Given the description of an element on the screen output the (x, y) to click on. 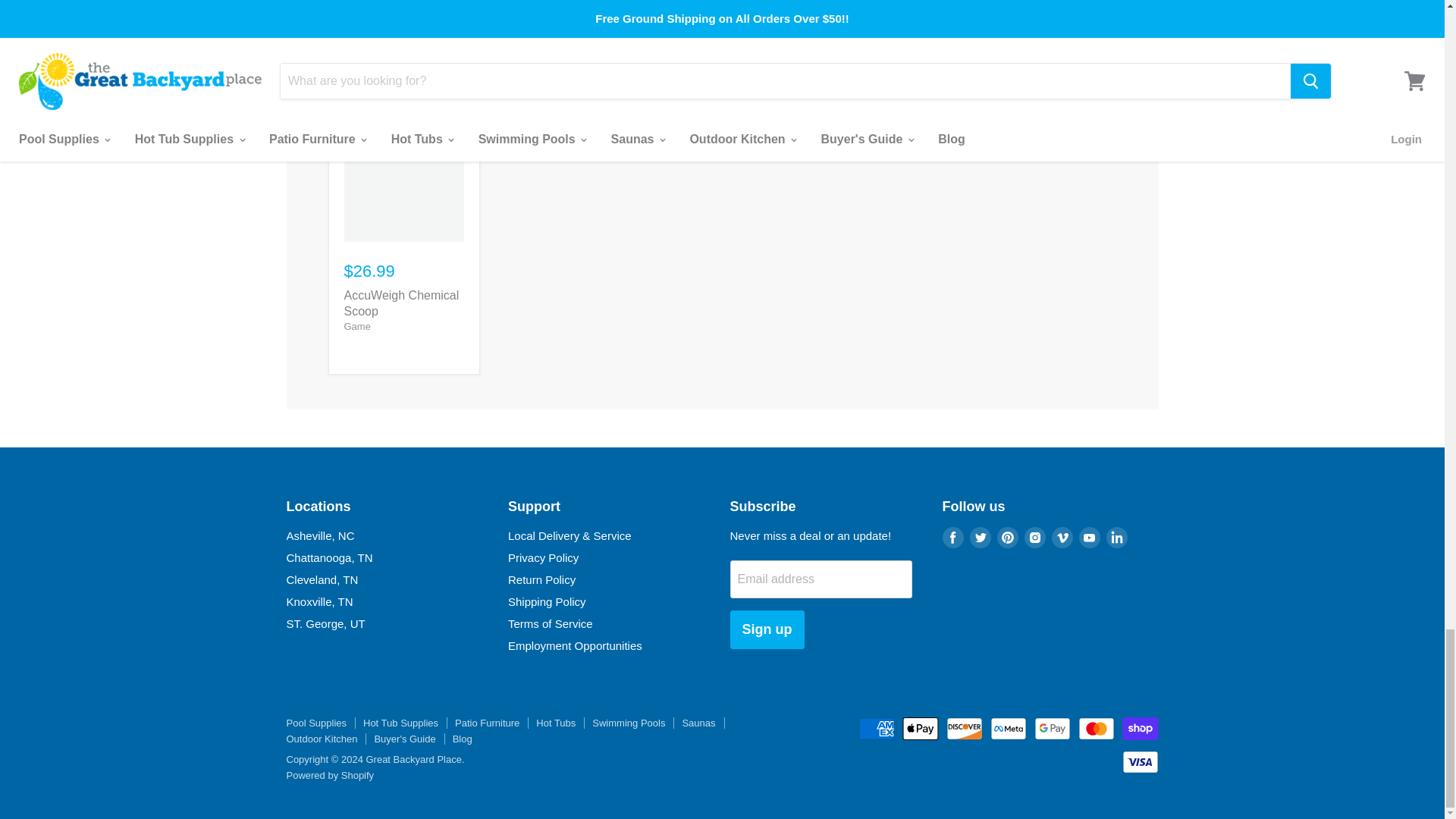
Twitter (979, 537)
Vimeo (1061, 537)
LinkedIn (1115, 537)
Facebook (952, 537)
Instagram (1034, 537)
Youtube (1088, 537)
Pinterest (1006, 537)
